Given the description of an element on the screen output the (x, y) to click on. 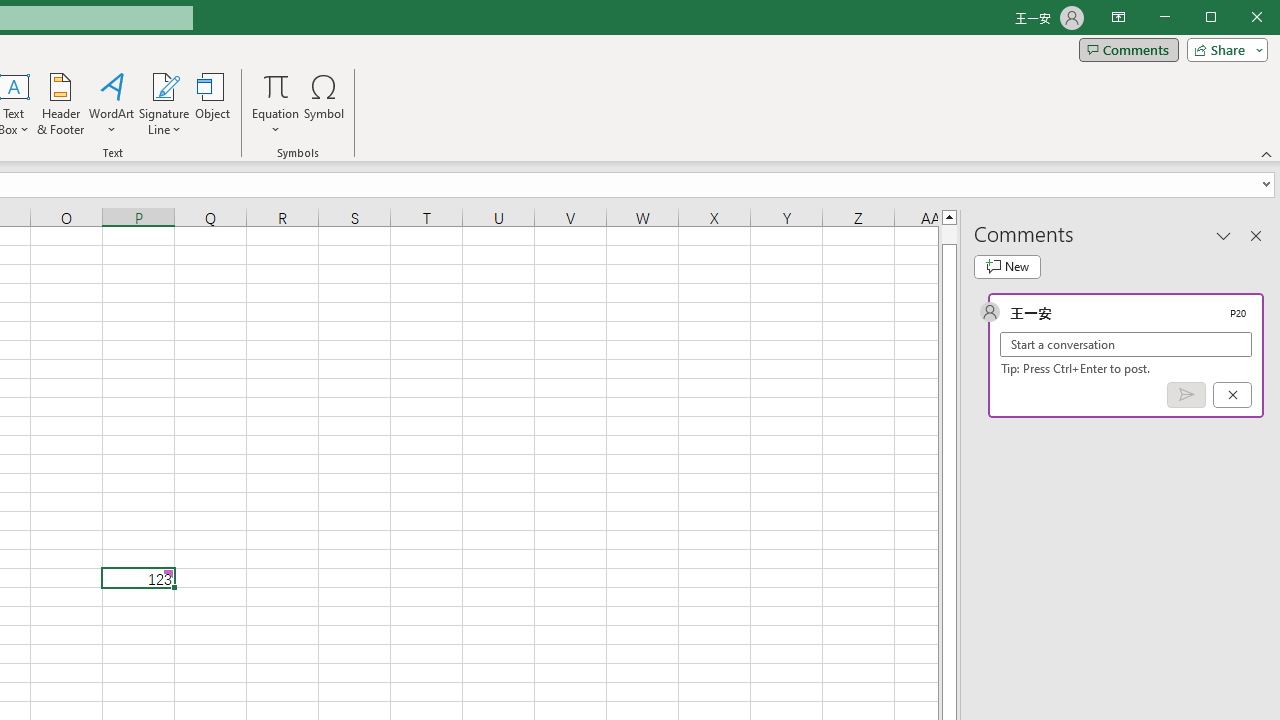
Header & Footer... (60, 104)
Symbol... (324, 104)
Start a conversation (1126, 344)
New comment (1007, 266)
Object... (213, 104)
Equation (275, 86)
Signature Line (164, 86)
Post comment (Ctrl + Enter) (1186, 395)
